Given the description of an element on the screen output the (x, y) to click on. 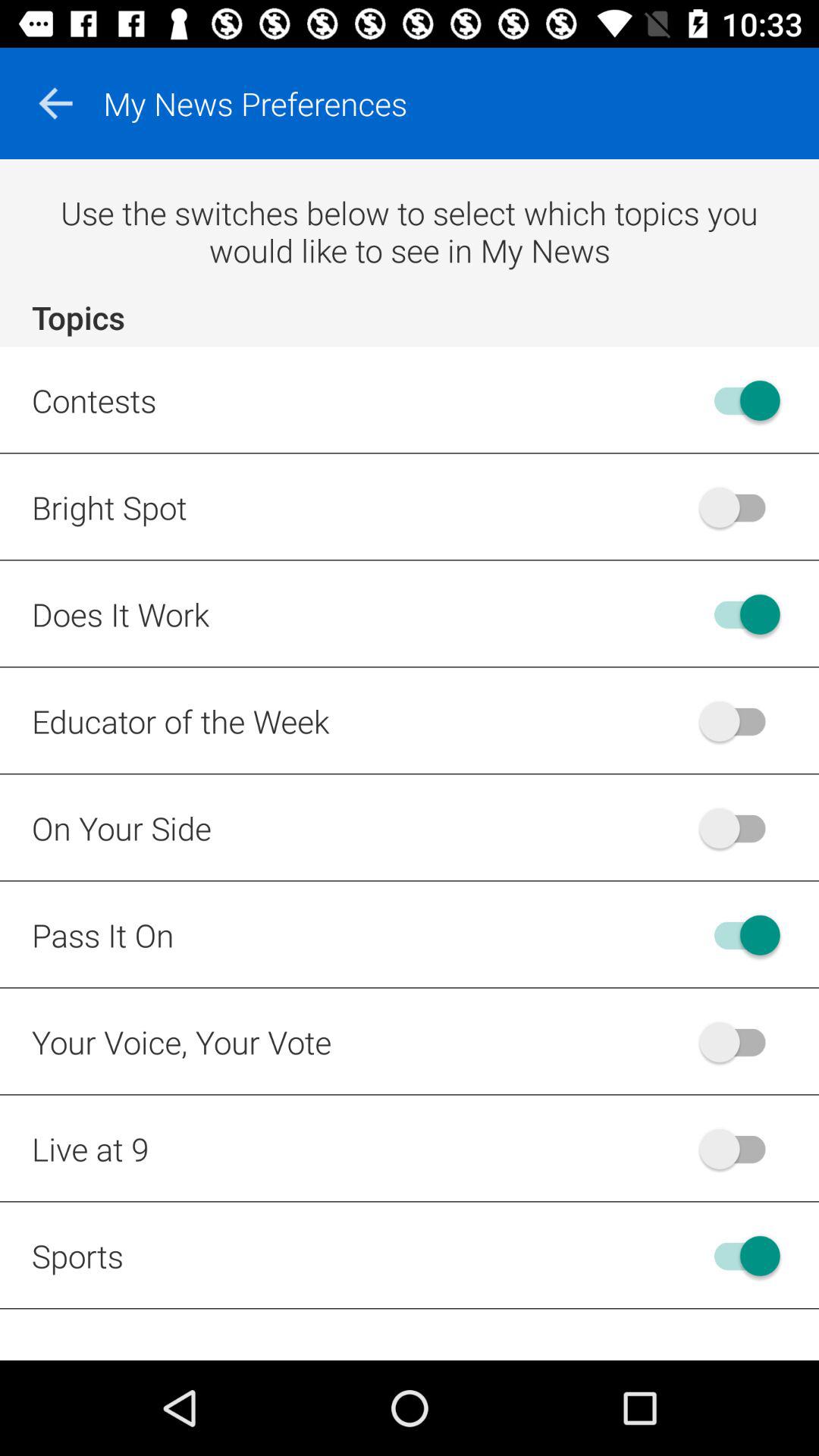
enable live at 9 (739, 1148)
